Given the description of an element on the screen output the (x, y) to click on. 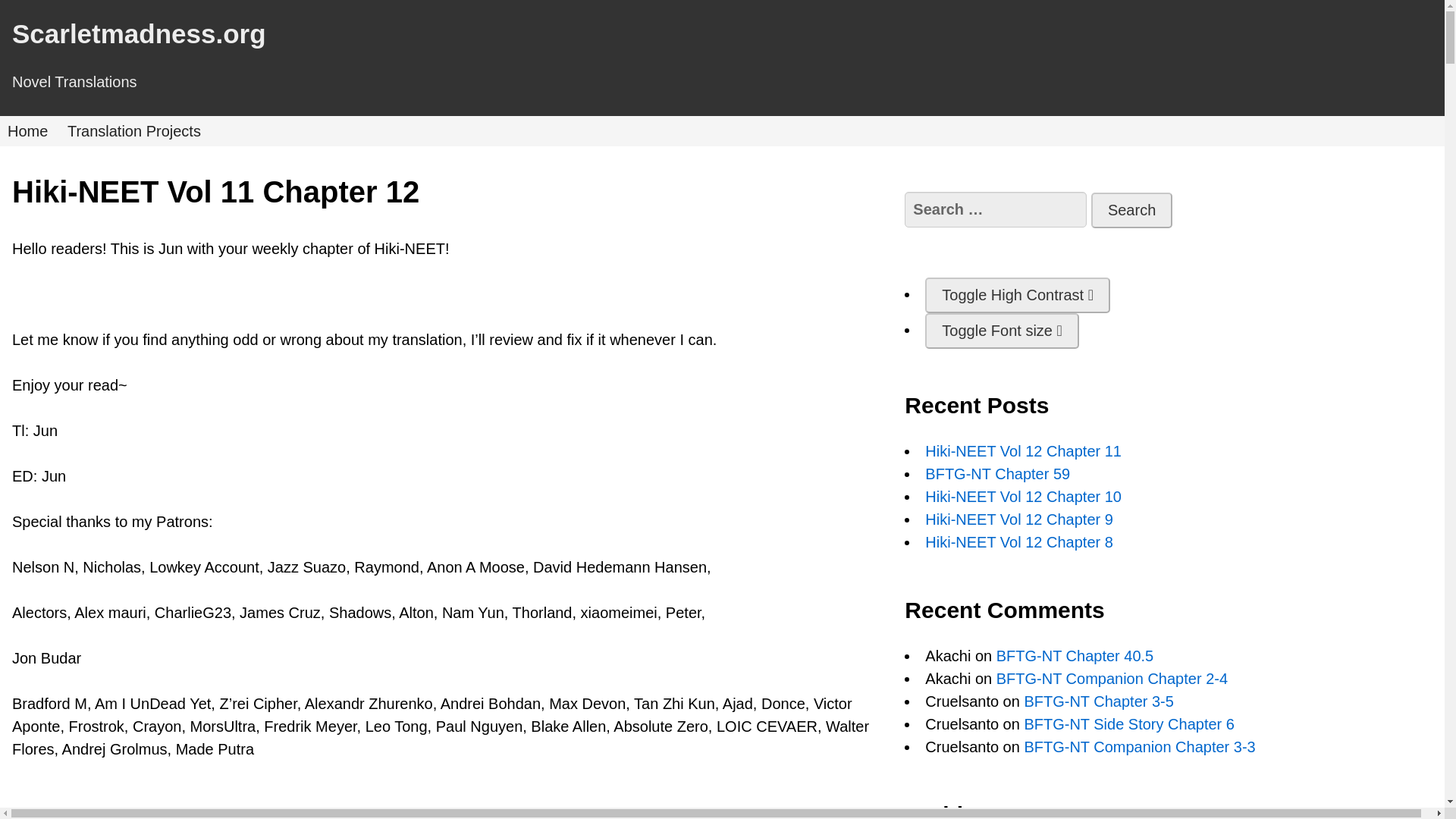
Hiki-NEET Vol 12 Chapter 9 (1018, 519)
Hiki-NEET Vol 12 Chapter 8 (1018, 541)
Search (1131, 210)
Toggle Font size (1001, 330)
BFTG-NT Chapter 59 (997, 474)
Hiki-NEET Vol 12 Chapter 11 (1022, 451)
Toggle High Contrast (1016, 294)
Home (27, 130)
Search (1131, 210)
Hiki-NEET Vol 12 Chapter 10 (1022, 496)
